Given the description of an element on the screen output the (x, y) to click on. 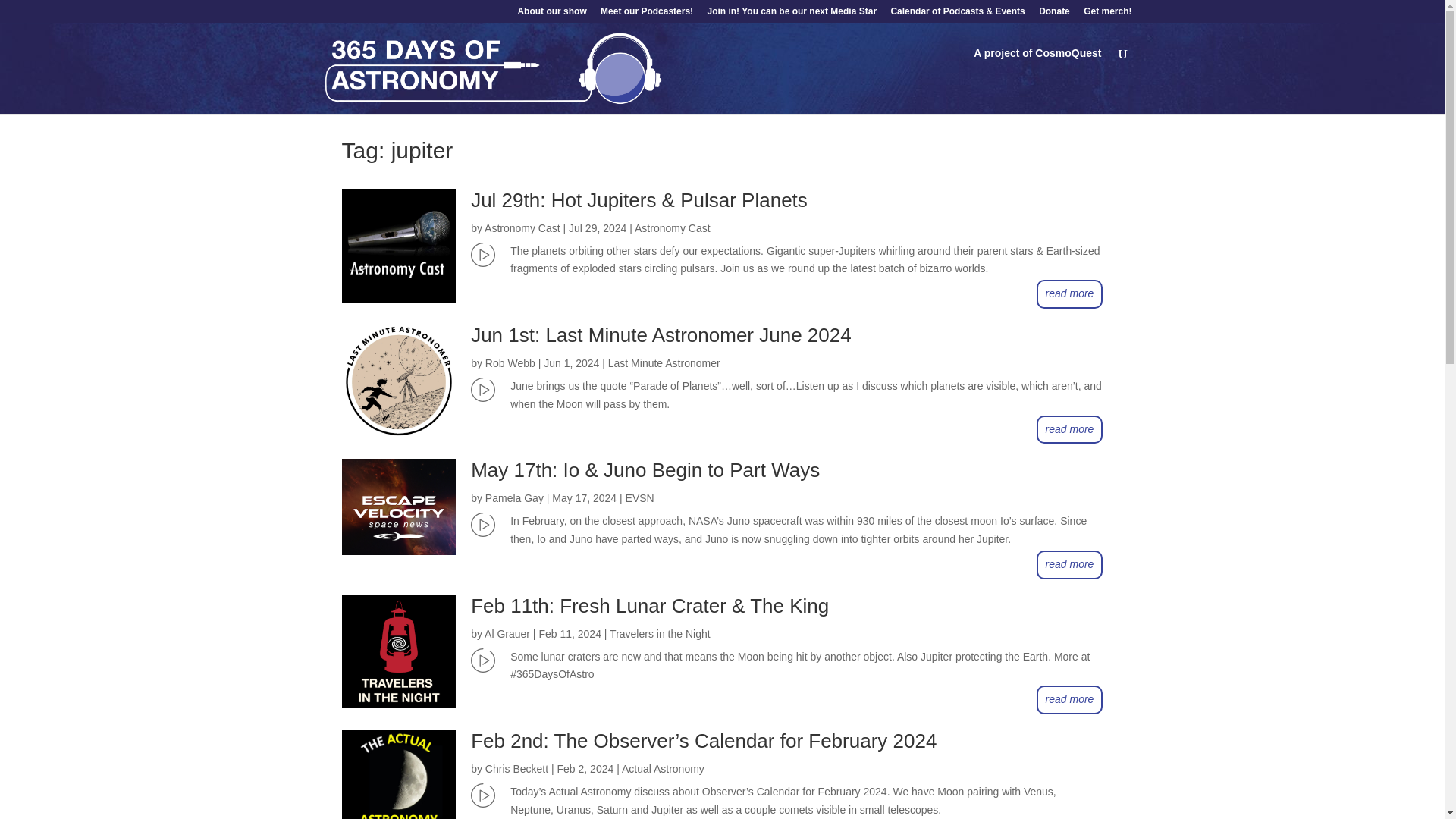
EVSN (639, 498)
Posts by Rob Webb (509, 363)
Pamela Gay (513, 498)
Astronomy Cast (672, 227)
Donate (1054, 14)
read more (1069, 294)
Al Grauer (506, 633)
Play (482, 794)
read more (1069, 564)
Play (482, 254)
